Given the description of an element on the screen output the (x, y) to click on. 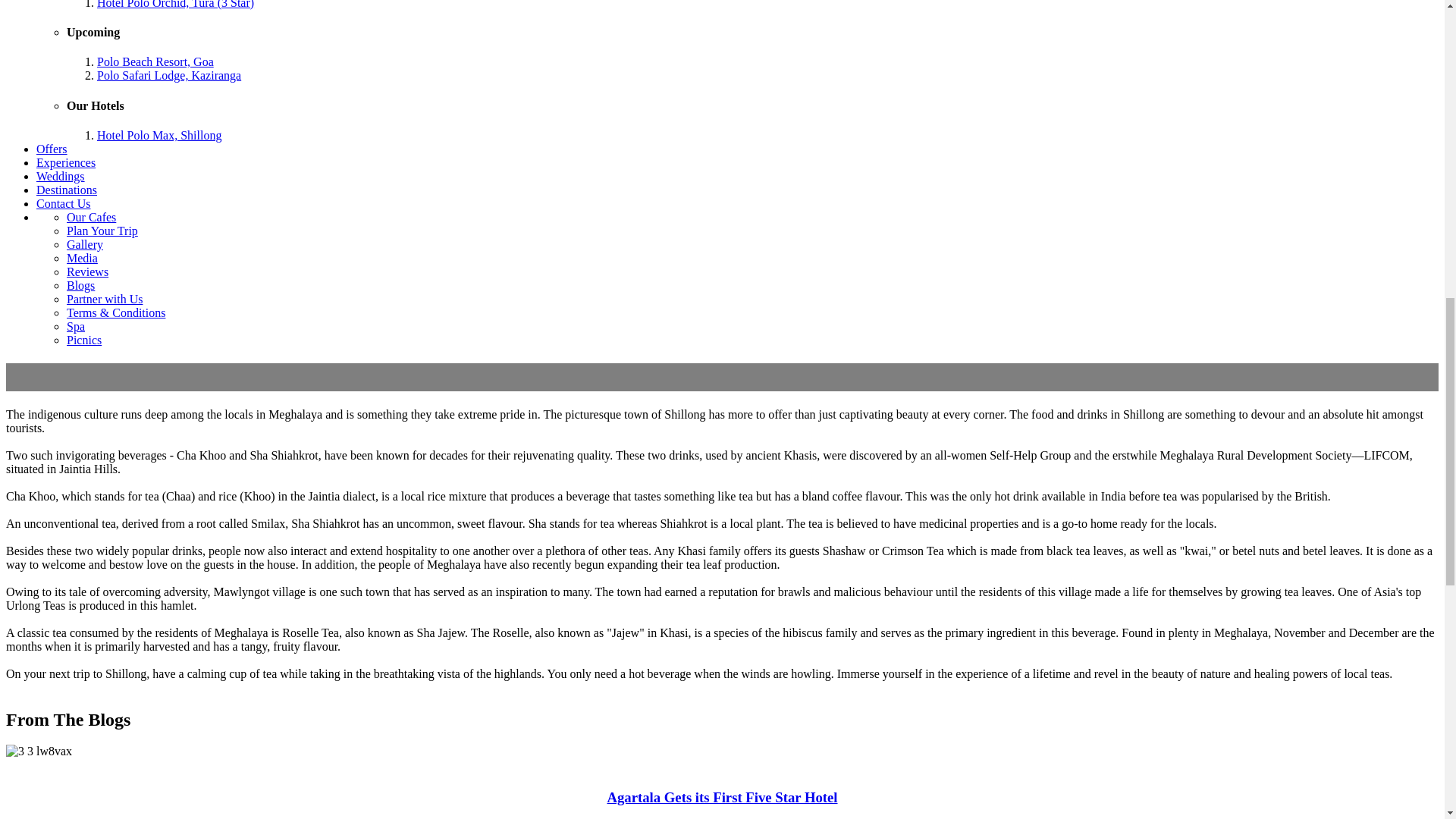
click here for sitemap (585, 775)
